Given the description of an element on the screen output the (x, y) to click on. 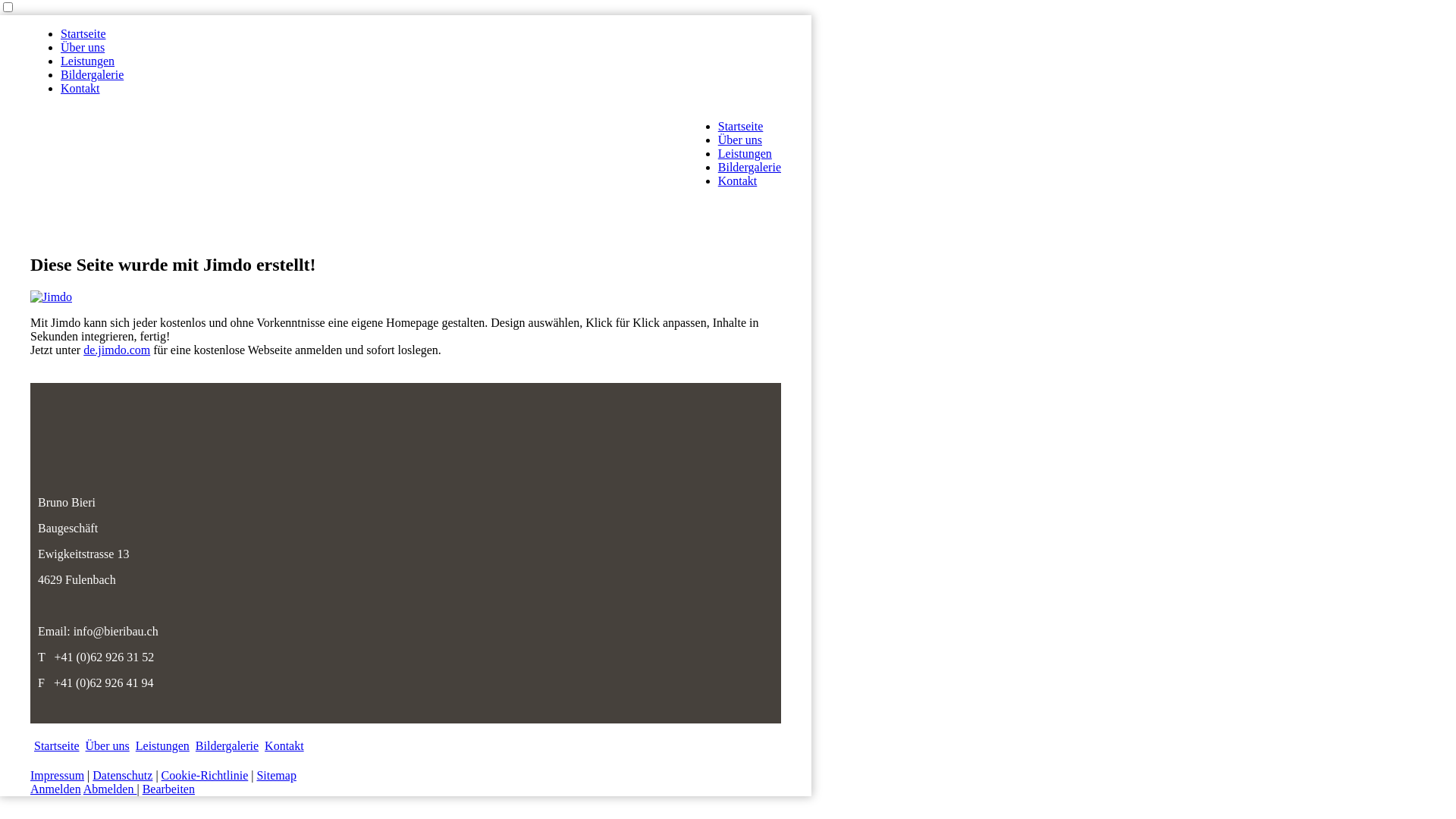
Bildergalerie Element type: text (91, 55)
Sitemap Element type: text (275, 774)
de.jimdo.com Element type: text (116, 349)
Leistungen Element type: text (744, 134)
Leistungen Element type: text (87, 41)
Anmelden Element type: text (55, 788)
Abmelden Element type: text (110, 788)
Impressum Element type: text (57, 774)
Jimdo Element type: hover (51, 297)
Bildergalerie Element type: text (226, 745)
Startseite Element type: text (56, 745)
Kontakt Element type: text (737, 161)
Leistungen Element type: text (162, 745)
Datenschutz Element type: text (122, 774)
Startseite Element type: text (740, 106)
Bearbeiten Element type: text (168, 788)
Kontakt Element type: text (284, 745)
Cookie-Richtlinie Element type: text (204, 774)
Bildergalerie Element type: text (749, 147)
Kontakt Element type: text (80, 68)
